Given the description of an element on the screen output the (x, y) to click on. 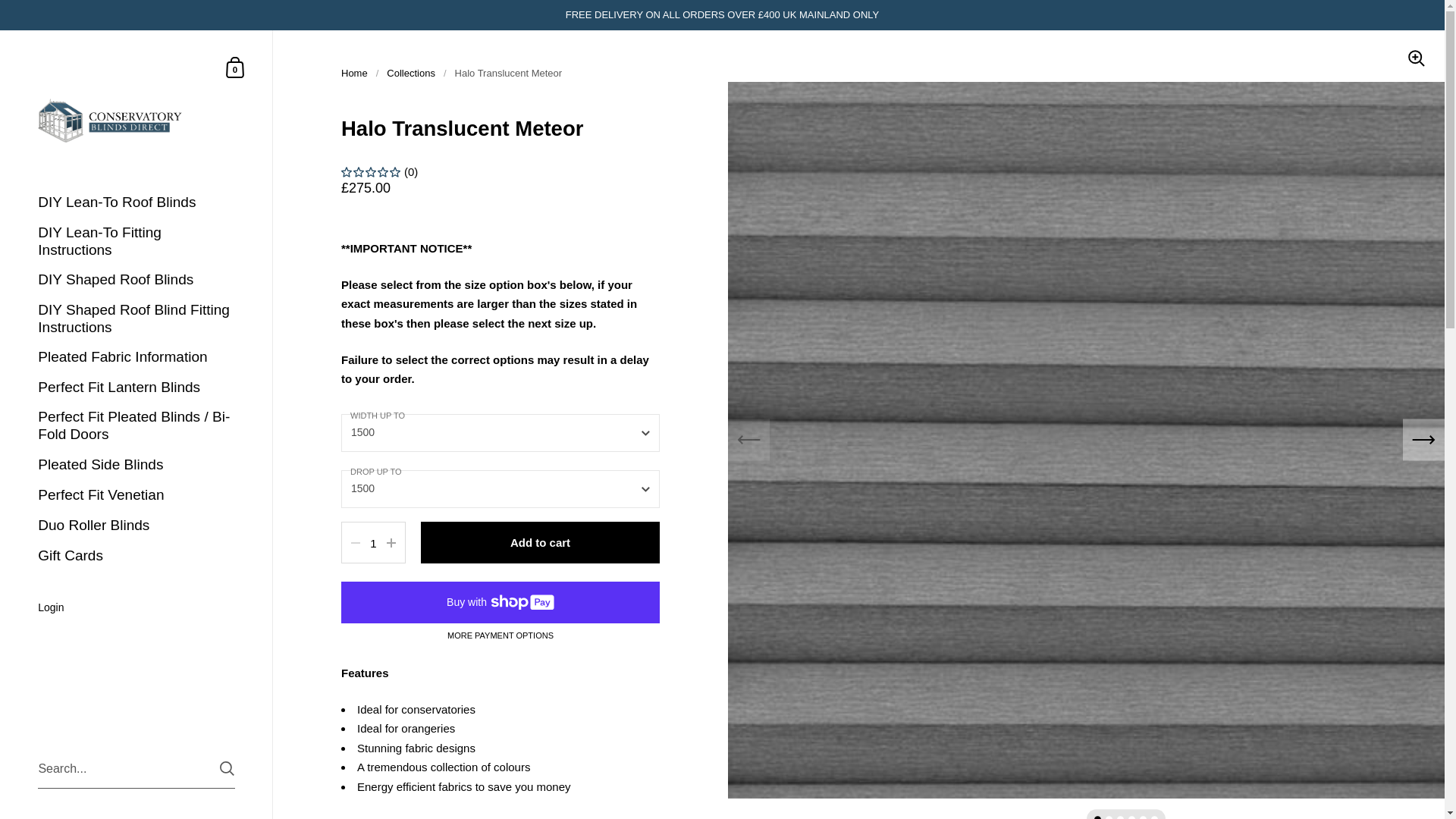
DIY Lean-To Roof Blinds (136, 203)
Pleated Fabric Information (136, 357)
Perfect Fit Lantern Blinds (136, 387)
Add to cart (539, 542)
DIY Shaped Roof Blinds (136, 280)
MORE PAYMENT OPTIONS (235, 66)
Skip to content (499, 635)
Perfect Fit Venetian (354, 72)
Duo Roller Blinds (136, 494)
Login (136, 525)
Shopping Cart (136, 608)
DIY Shaped Roof Blind Fitting Instructions (235, 66)
Collections (136, 319)
